Given the description of an element on the screen output the (x, y) to click on. 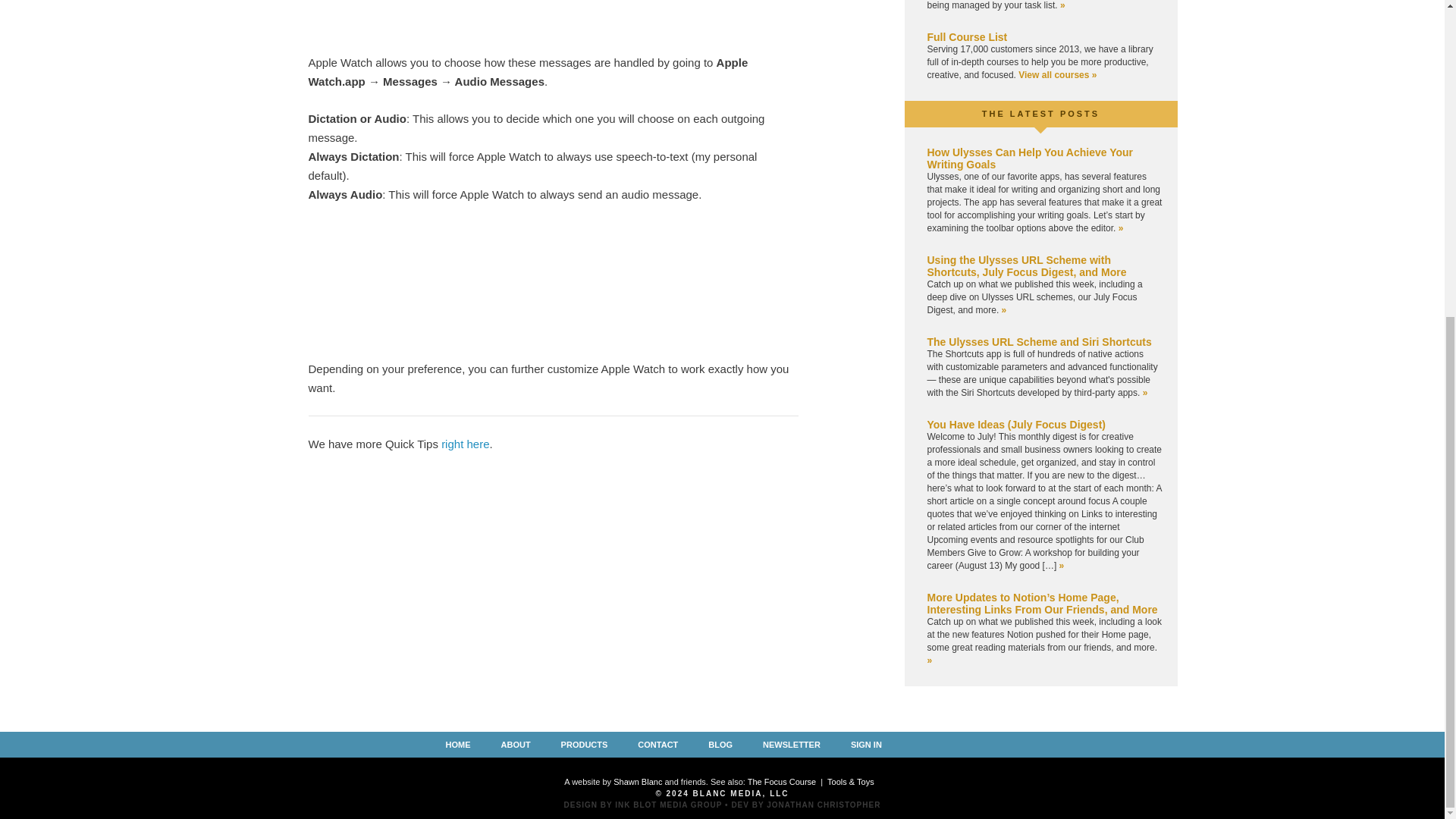
HOME (457, 744)
Full Course List (966, 37)
The Ulysses URL Scheme and Siri Shortcuts (1038, 341)
THE LATEST POSTS (1040, 112)
How Ulysses Can Help You Achieve Your Writing Goals (1029, 158)
ABOUT (515, 744)
PRODUCTS (584, 744)
right here (465, 443)
